Given the description of an element on the screen output the (x, y) to click on. 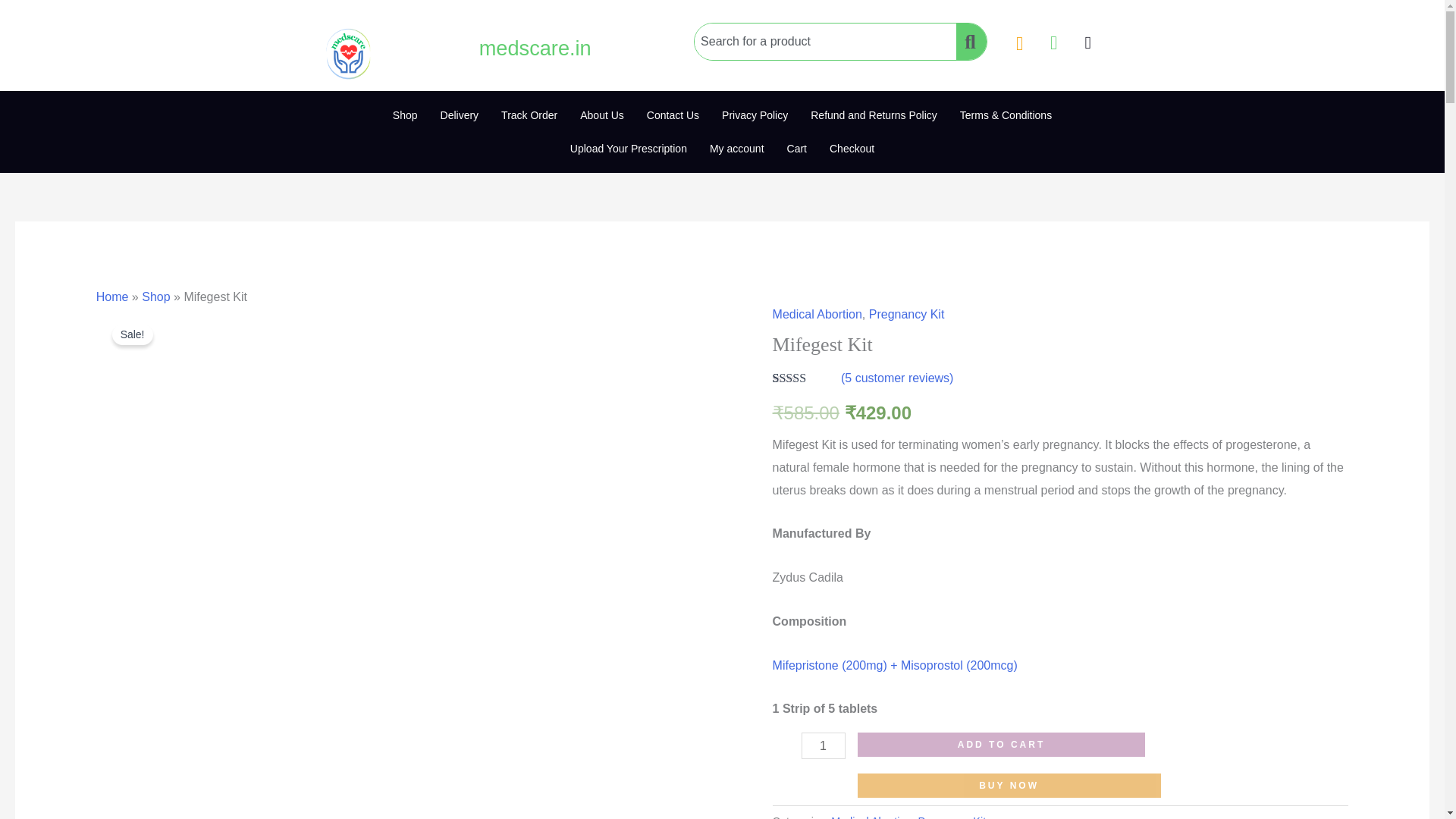
Upload Your Prescription (628, 148)
My account (737, 148)
Medical Abortion (817, 314)
Medical Abortion (871, 816)
About Us (601, 114)
ADD TO CART (1001, 744)
medscare.in (535, 47)
Shop (405, 114)
Shop (155, 296)
Contact Us (672, 114)
